Given the description of an element on the screen output the (x, y) to click on. 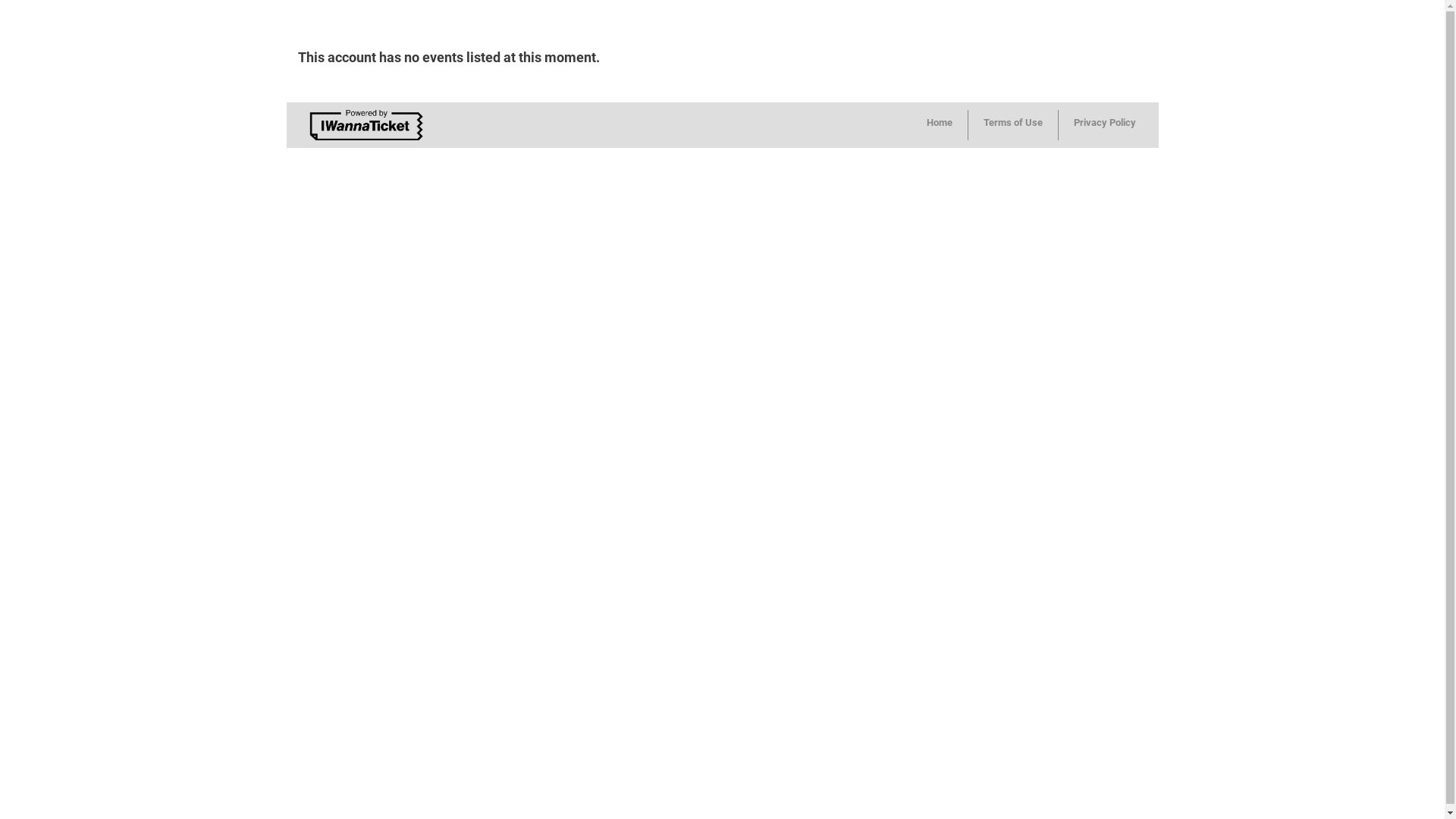
Privacy Policy Element type: text (1104, 124)
Terms of Use Element type: text (1012, 124)
Home Element type: text (939, 124)
